Given the description of an element on the screen output the (x, y) to click on. 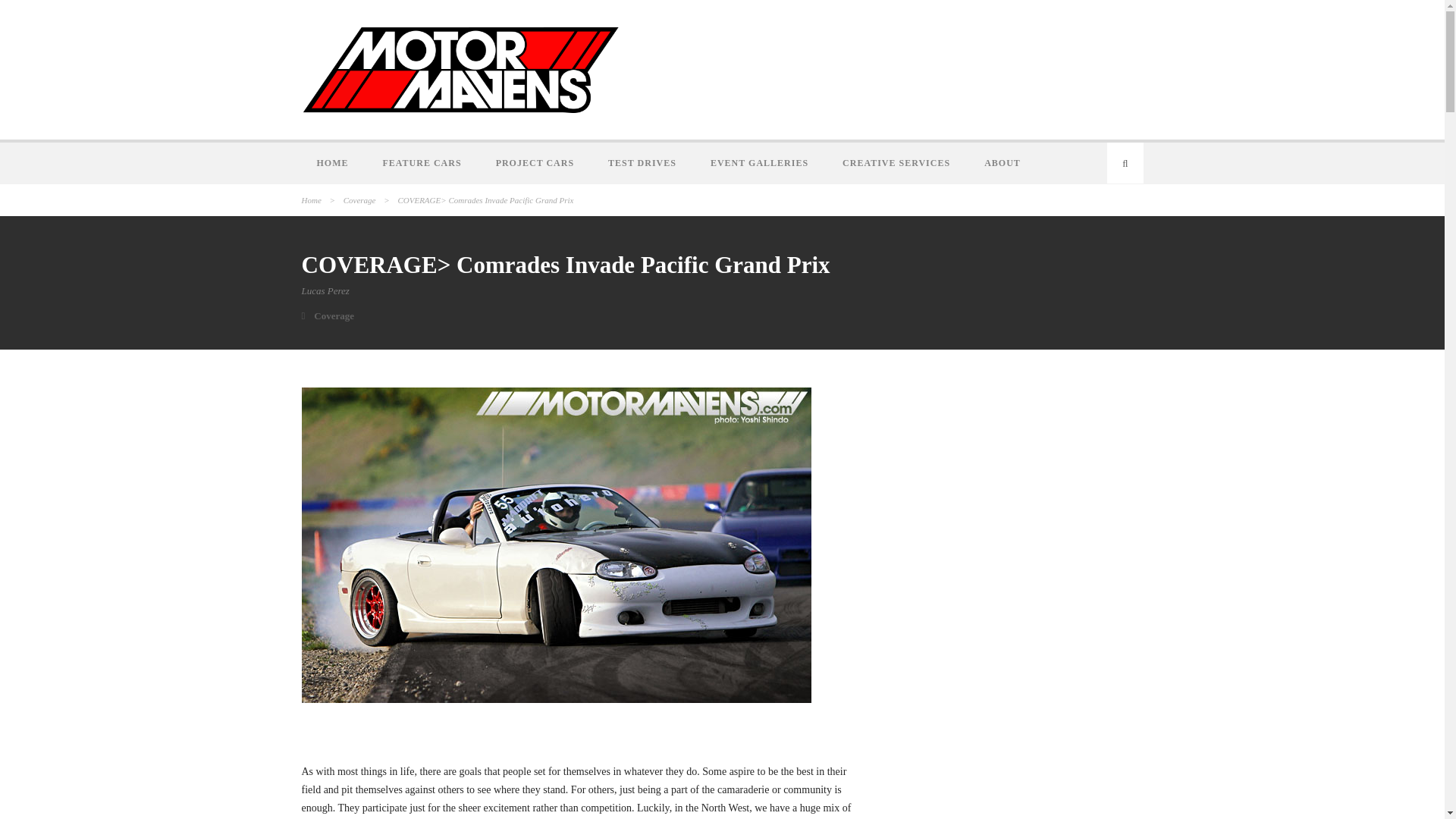
Lucas Perez (325, 290)
Coverage (333, 315)
PROJECT CARS (536, 162)
FEATURE CARS (423, 162)
CREATIVE SERVICES (898, 162)
Home (311, 199)
Coverage (359, 199)
TEST DRIVES (643, 162)
Posts by Lucas Perez (325, 290)
HOME (334, 162)
EVENT GALLERIES (761, 162)
ABOUT (1004, 162)
